Given the description of an element on the screen output the (x, y) to click on. 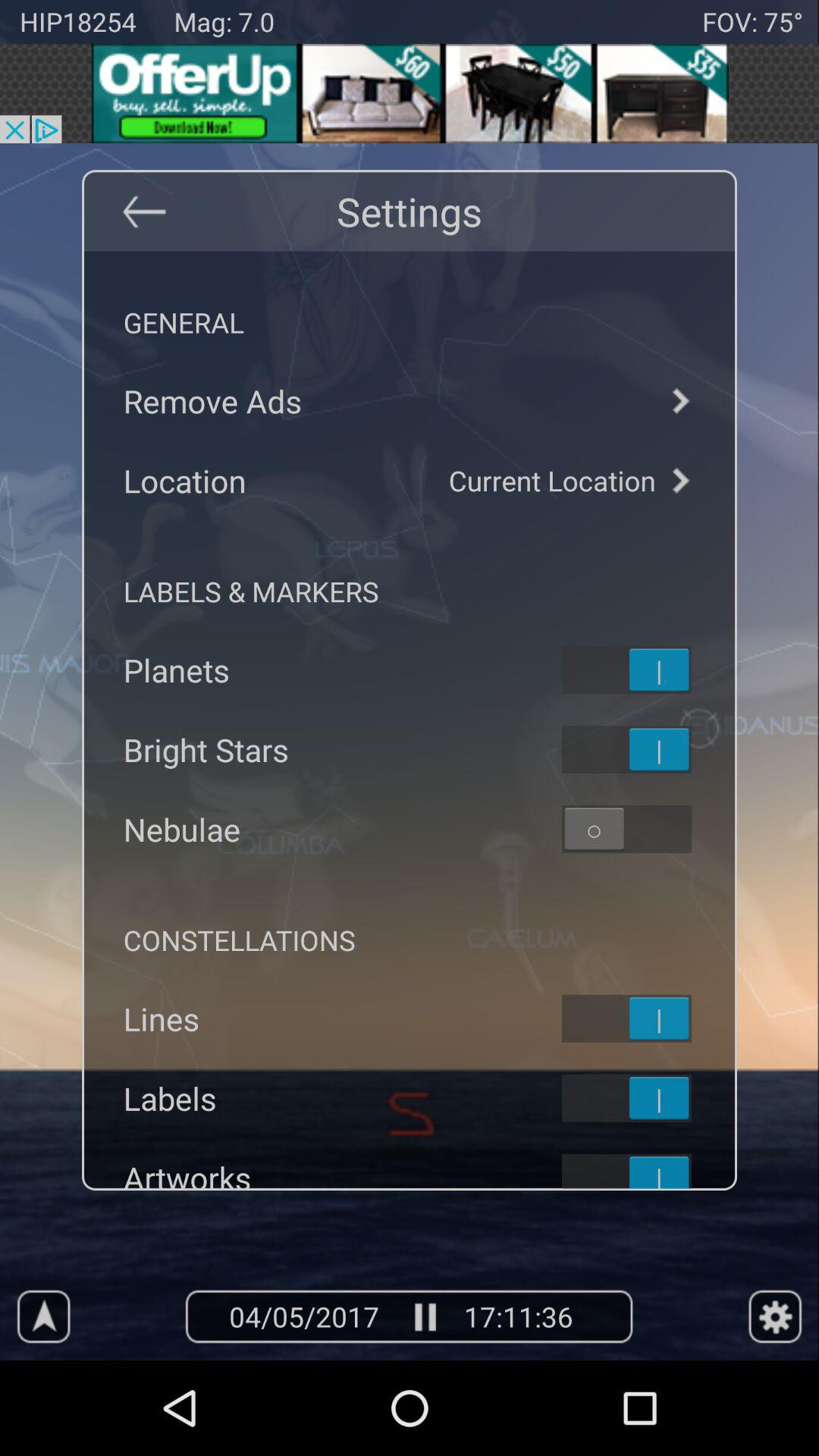
on off button (646, 749)
